Given the description of an element on the screen output the (x, y) to click on. 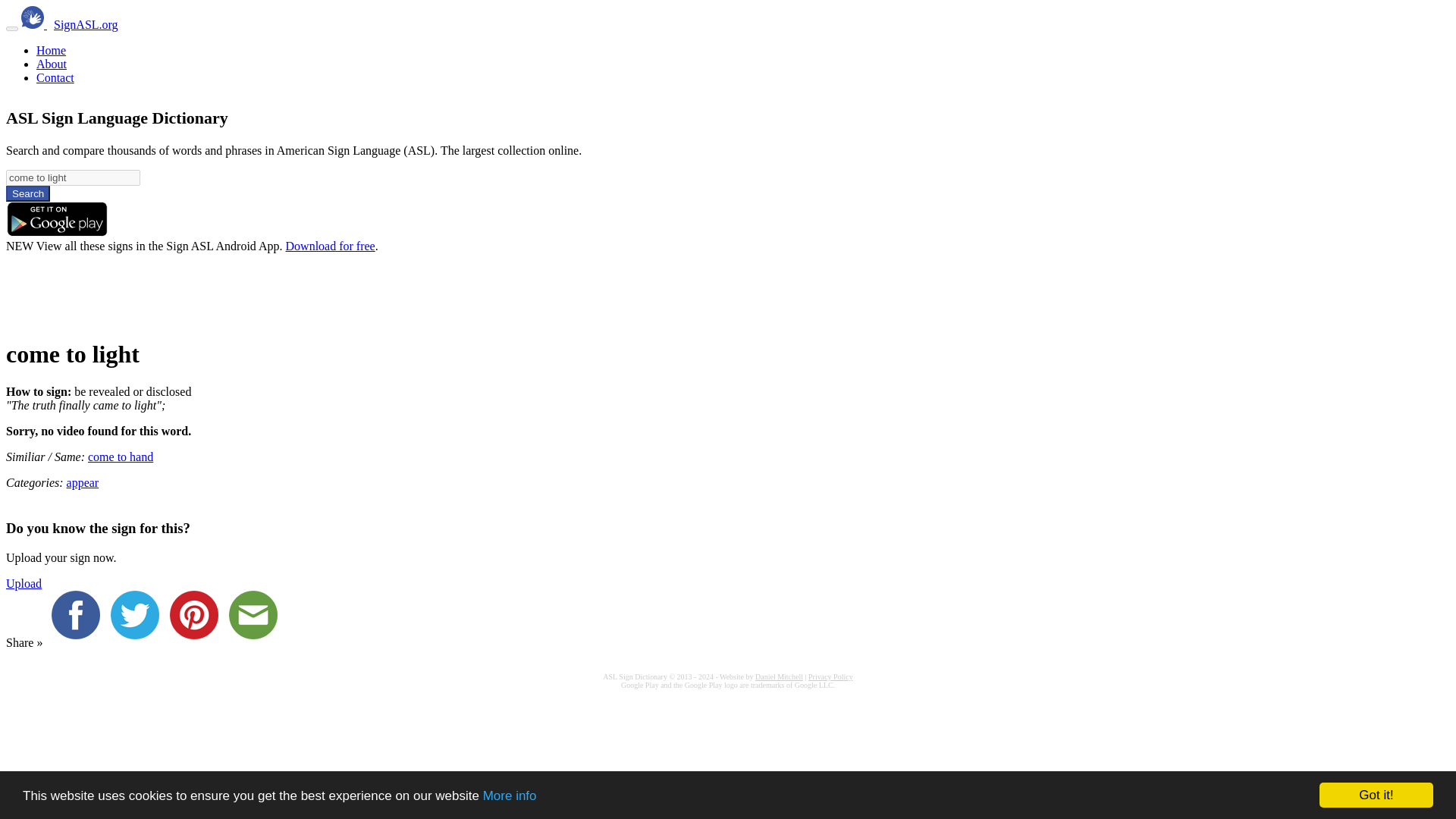
Home (50, 50)
Contact (55, 77)
Upload (23, 583)
Download for free (330, 245)
Pininterest (197, 642)
Facebook (78, 642)
About (51, 63)
Email (256, 642)
Daniel Mitchell (779, 676)
Search (27, 193)
come to light (72, 177)
Privacy Policy (830, 676)
appear (82, 481)
Advertisement (281, 287)
SignASL.org (85, 24)
